Given the description of an element on the screen output the (x, y) to click on. 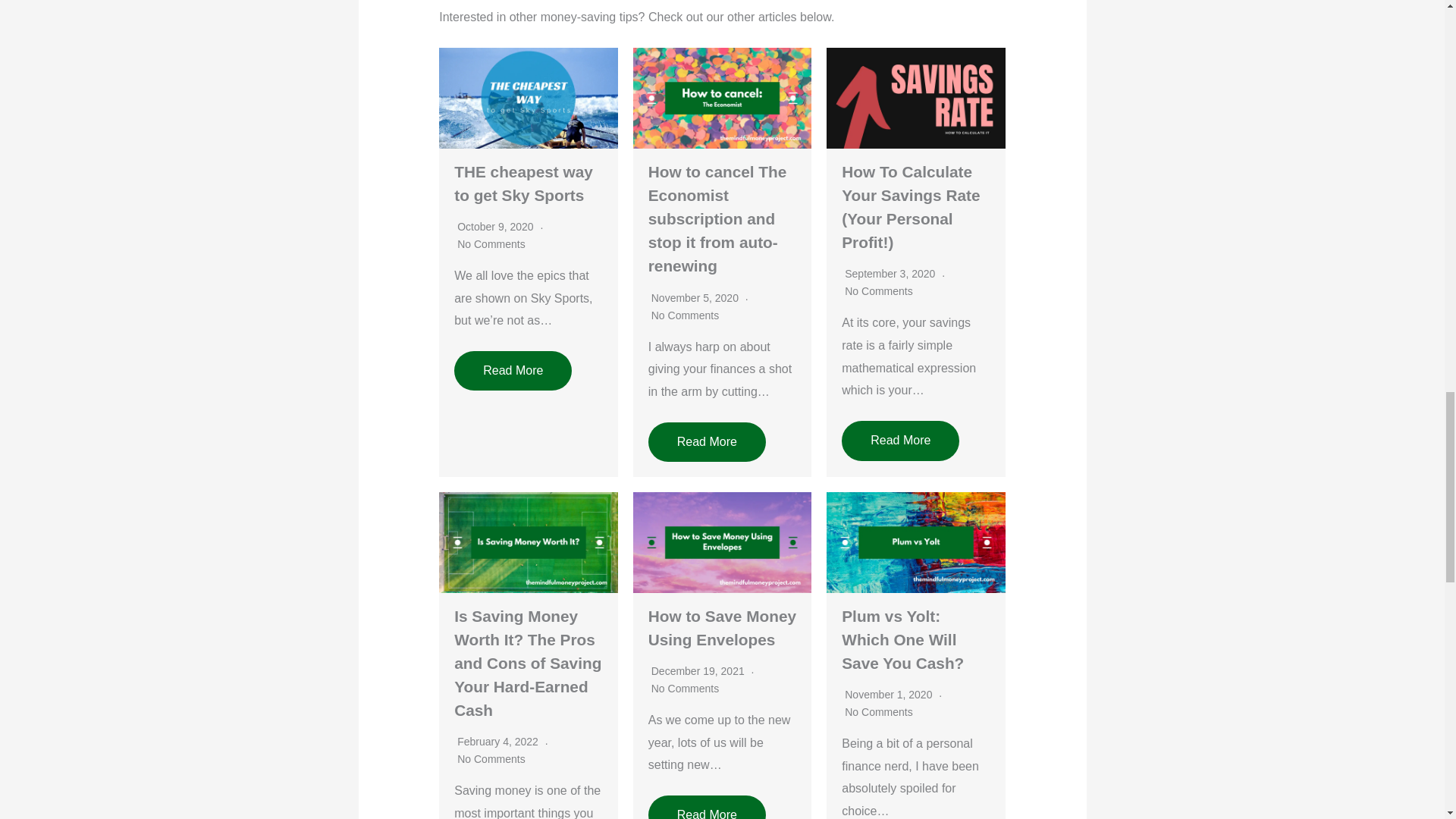
Read More (706, 441)
Plum vs Yolt: Which One Will Save You Cash? (902, 638)
THE cheapest way to get Sky Sports (523, 182)
Read More (706, 807)
Read More (513, 370)
How to Save Money Using Envelopes (721, 626)
Read More (900, 440)
